Given the description of an element on the screen output the (x, y) to click on. 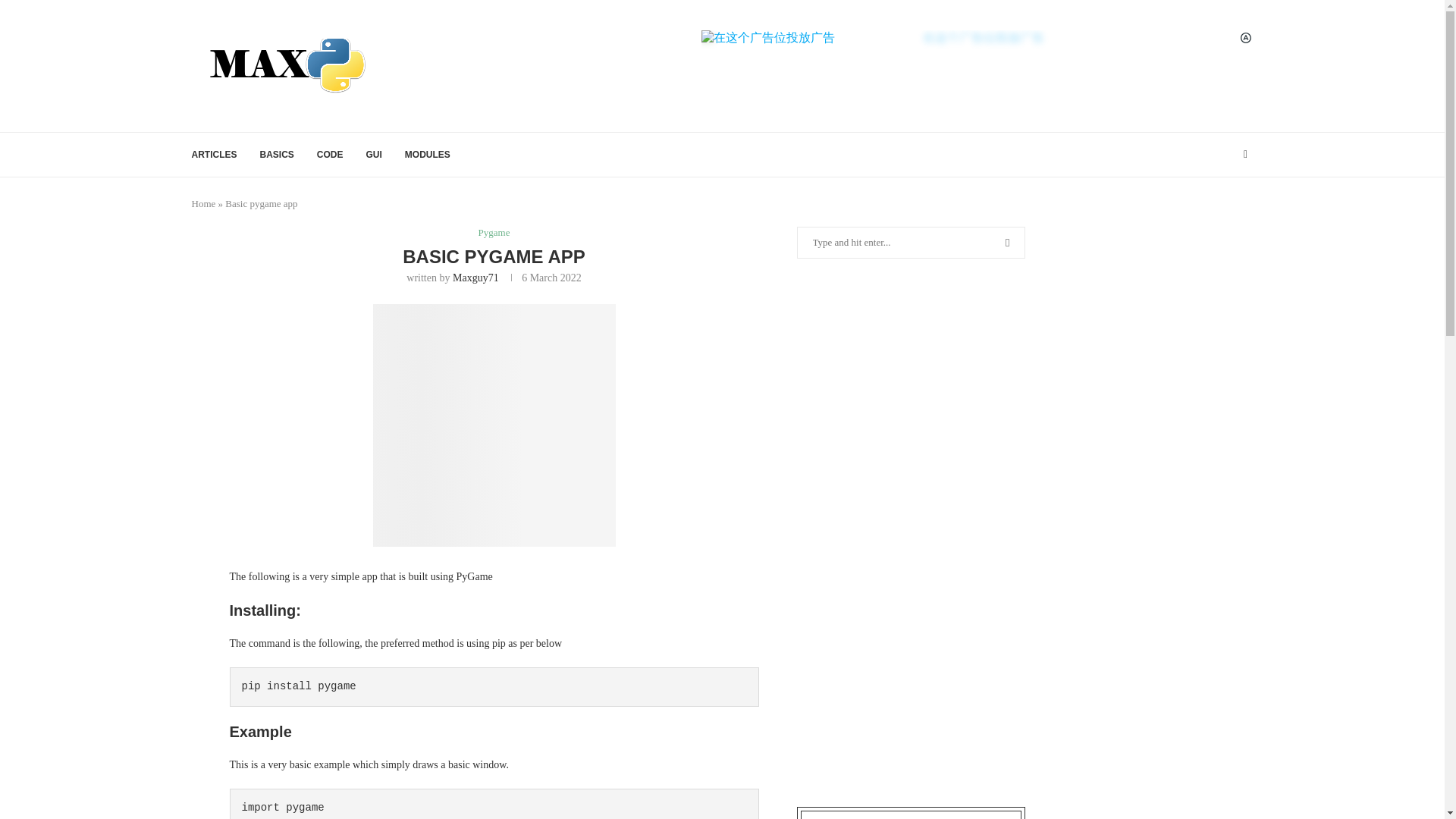
MODULES (426, 154)
pygame-python-clipart (493, 425)
Maxguy71 (475, 277)
Search (114, 15)
Home (202, 203)
CODE (330, 154)
BASICS (276, 154)
GUI (373, 154)
Pygame (495, 232)
ARTICLES (212, 154)
